Given the description of an element on the screen output the (x, y) to click on. 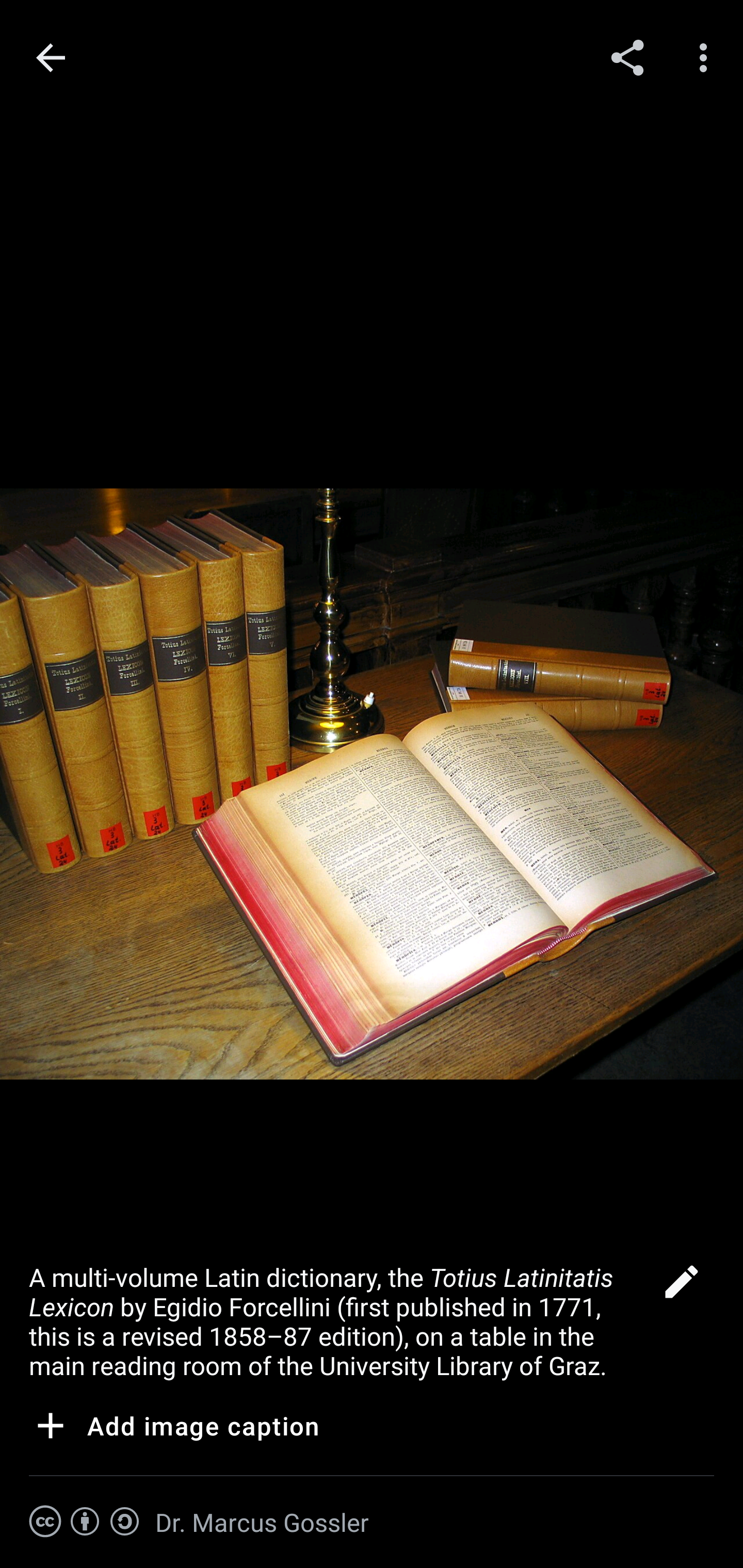
Navigate up (50, 57)
Share (626, 57)
More options (706, 57)
Edit image caption (681, 1286)
Add image caption (174, 1428)
CC BY-SA 3.0 (84, 1521)
